Given the description of an element on the screen output the (x, y) to click on. 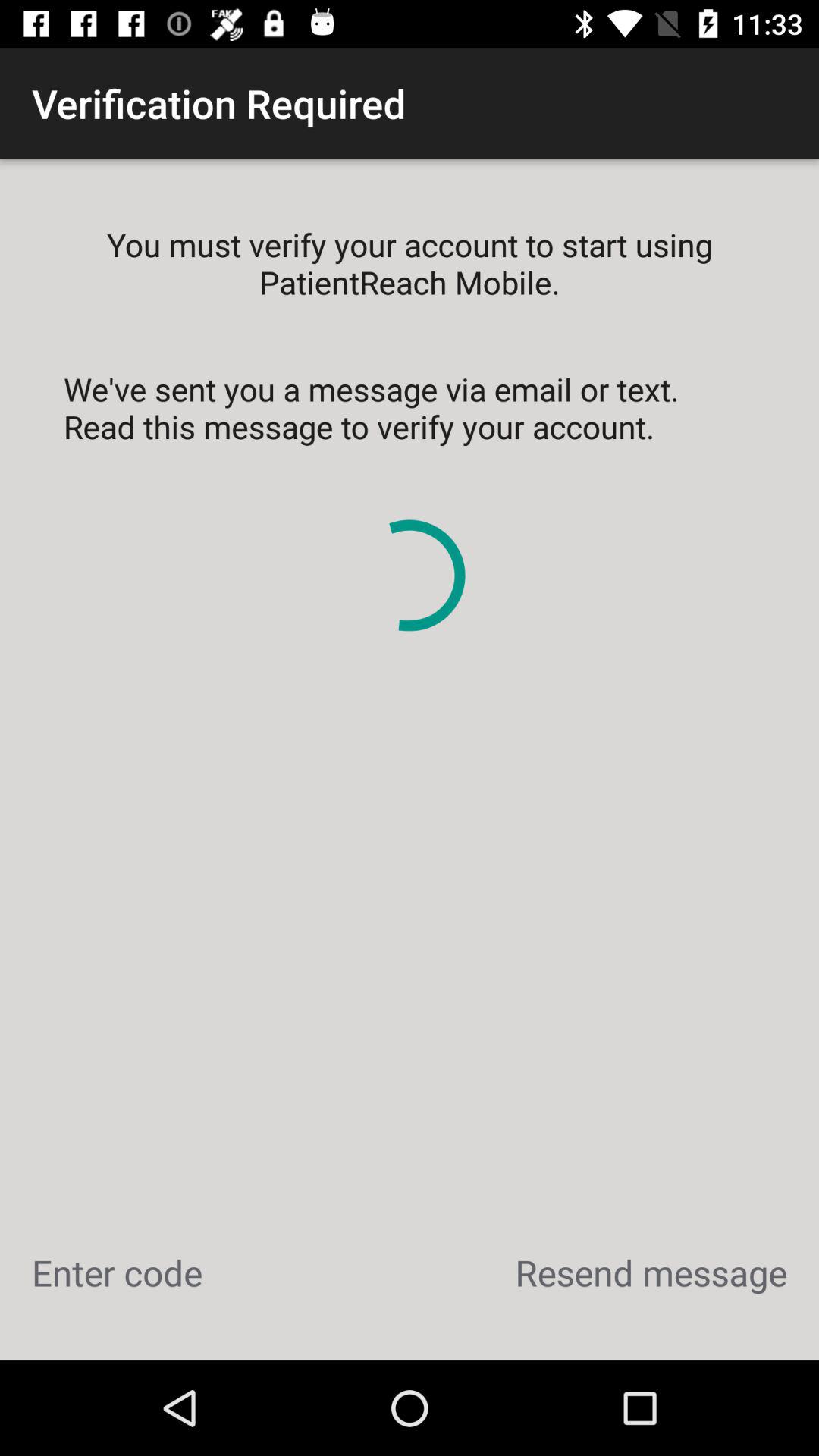
launch the icon to the right of enter code (651, 1272)
